Given the description of an element on the screen output the (x, y) to click on. 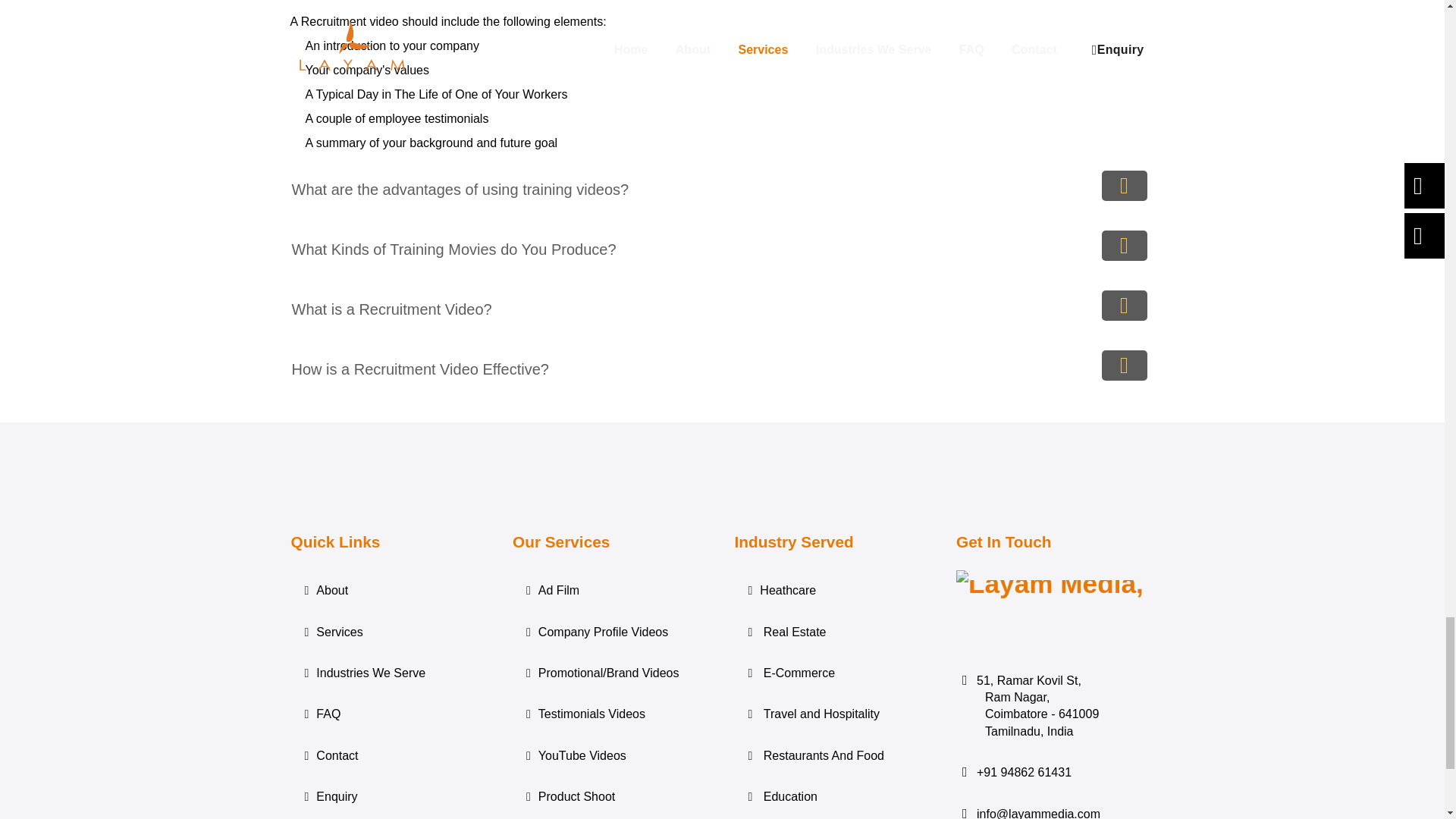
Heathcare (832, 590)
Real Estate (832, 632)
Travel and Hospitality (832, 714)
Services (390, 632)
What are the advantages of using training videos? (722, 189)
About (390, 590)
YouTube Videos (611, 756)
Company Profile Videos (611, 632)
What Kinds of Training Movies do You Produce? (722, 249)
